Given the description of an element on the screen output the (x, y) to click on. 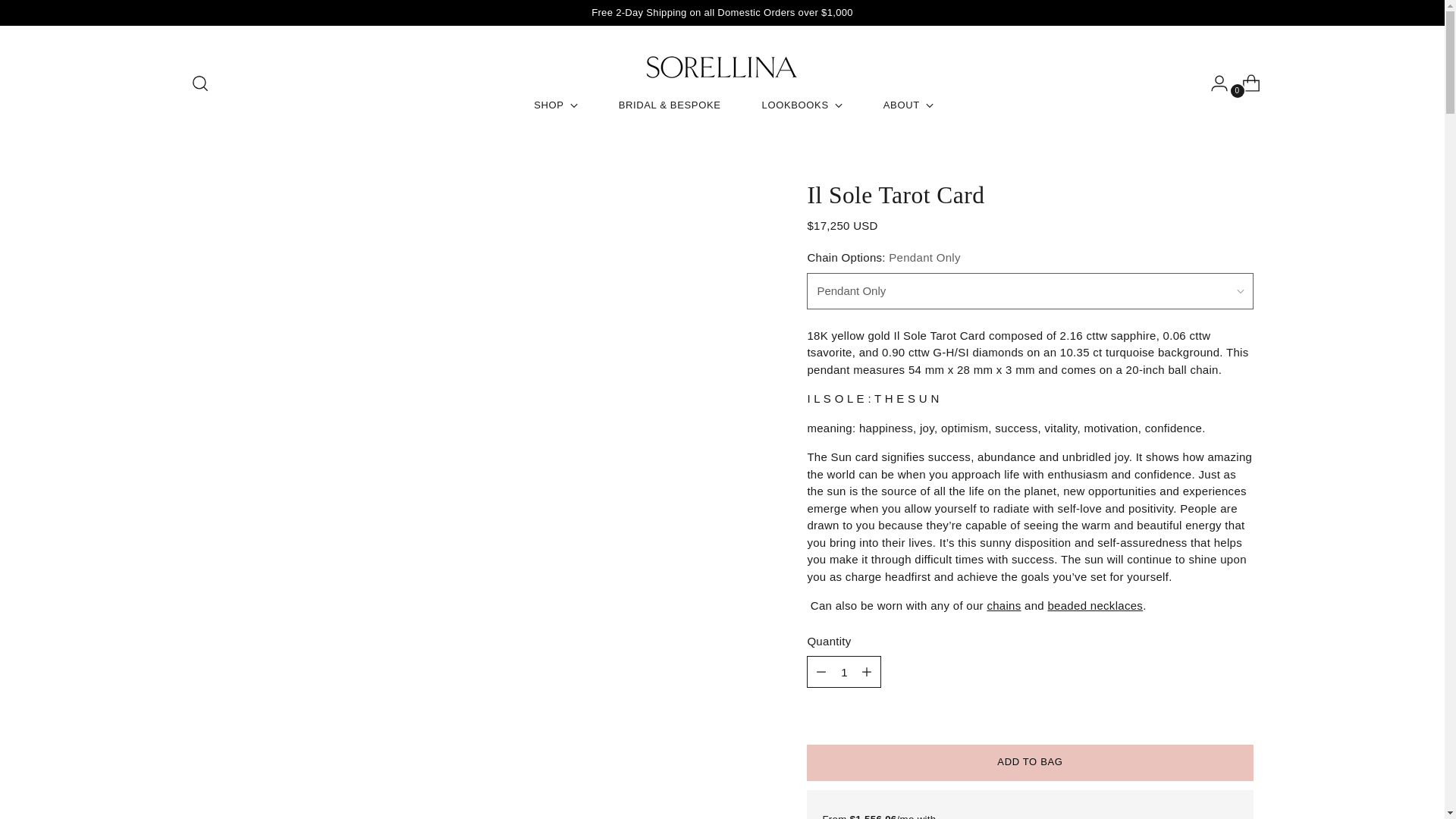
SHOP (543, 105)
1 (843, 671)
